Given the description of an element on the screen output the (x, y) to click on. 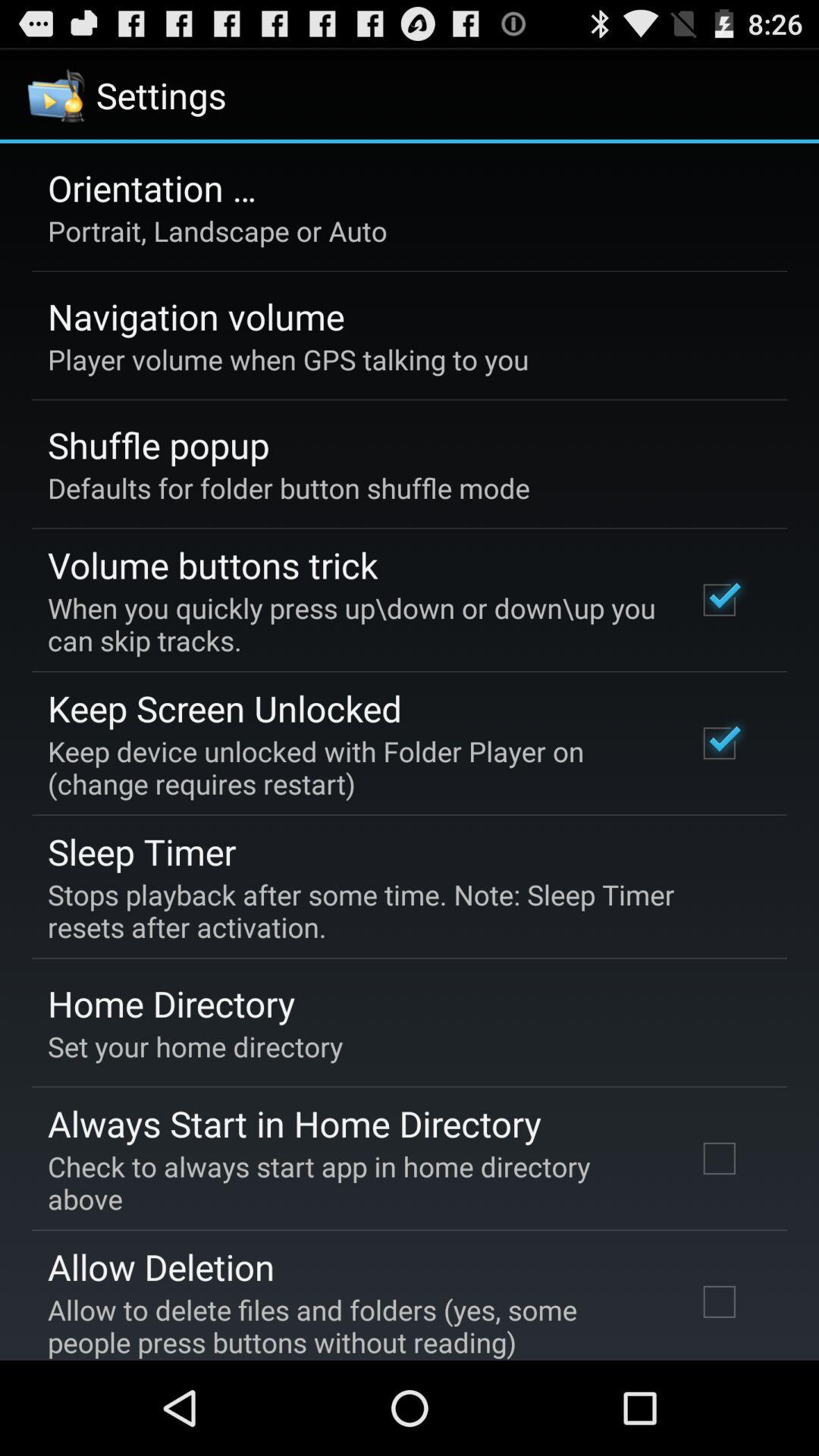
select the set your home icon (194, 1046)
